Given the description of an element on the screen output the (x, y) to click on. 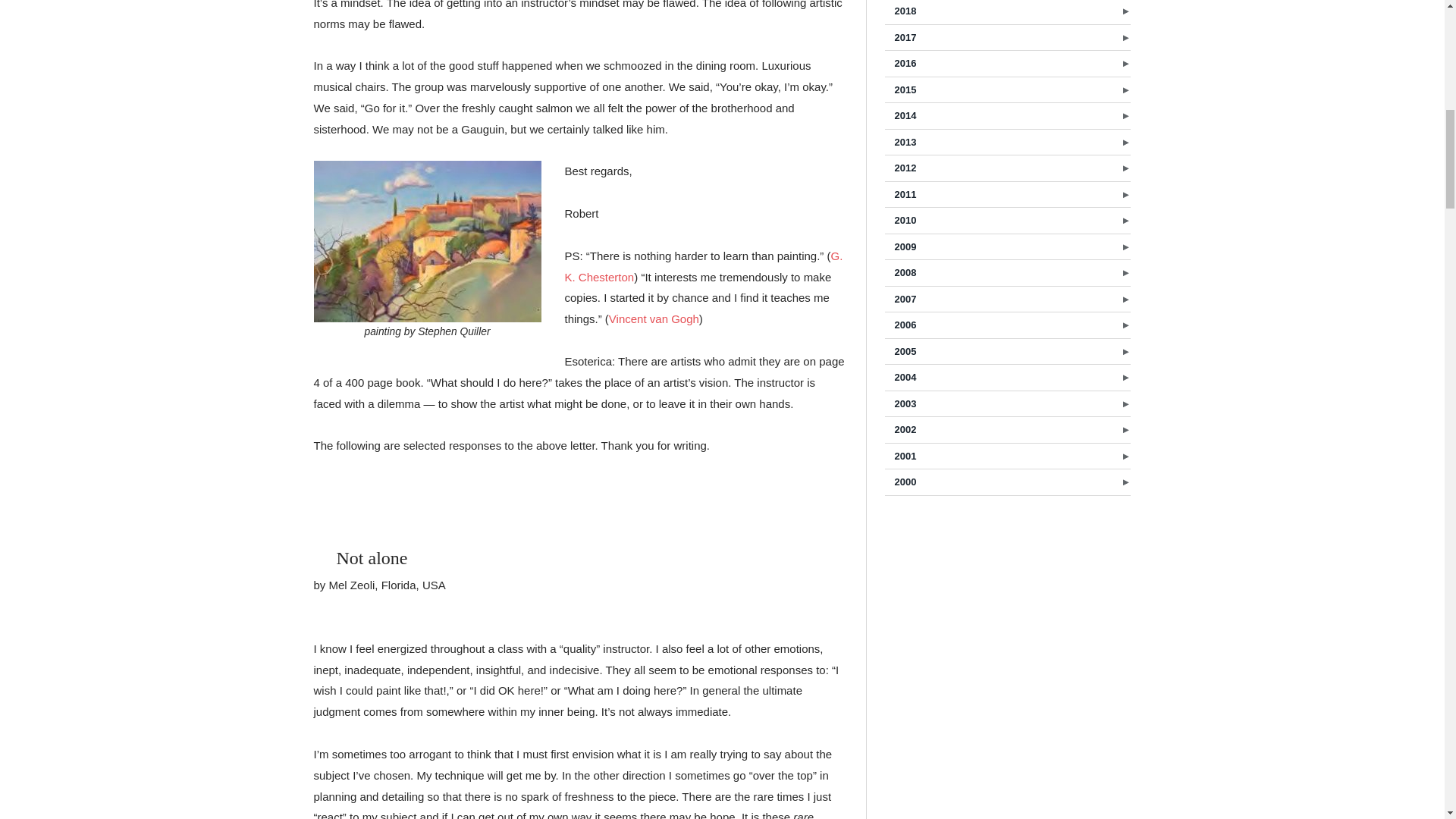
G. K. Chesterton (703, 266)
Vincent van Gogh (653, 318)
